Given the description of an element on the screen output the (x, y) to click on. 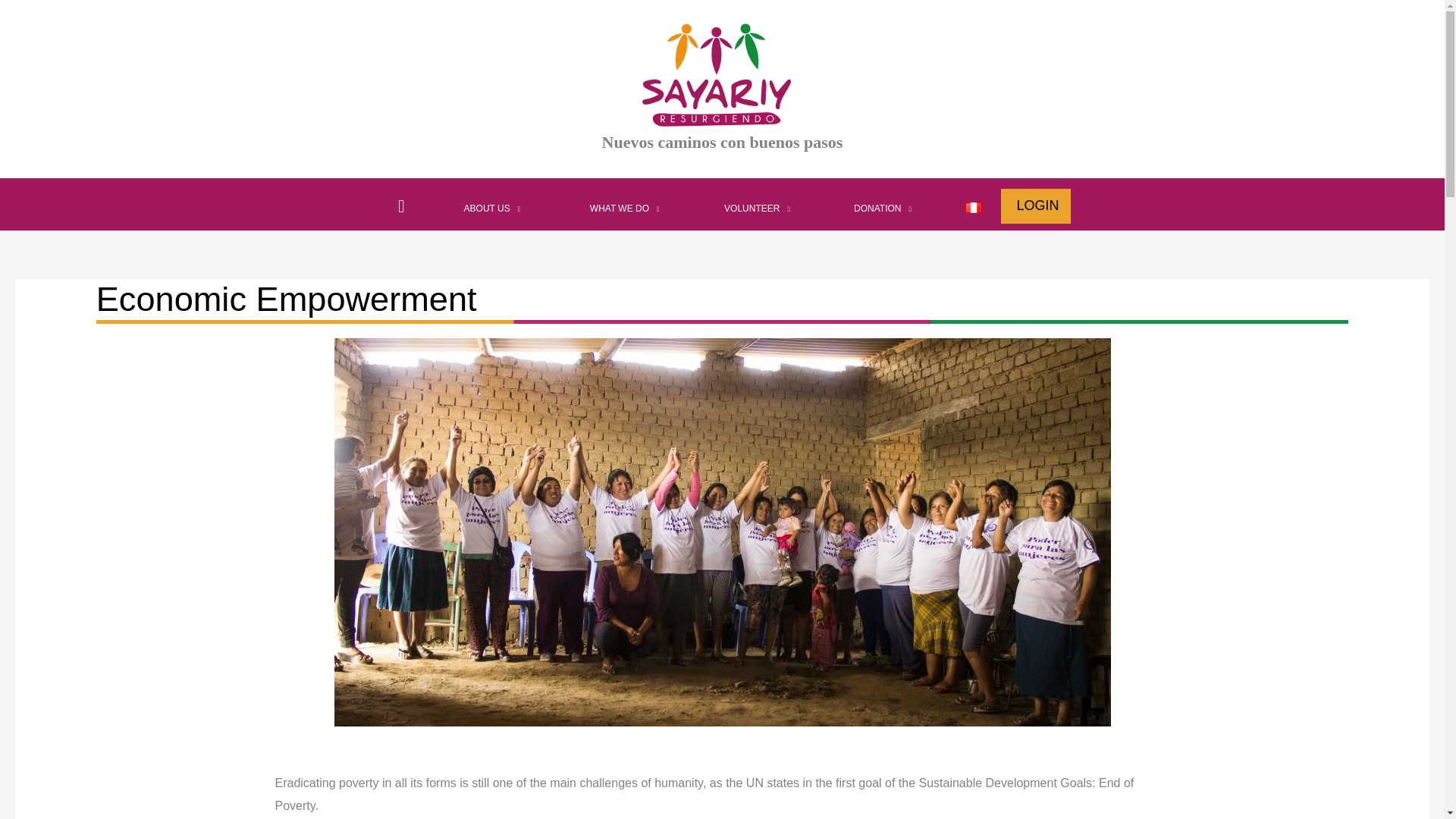
ABOUT US (491, 208)
WHAT WE DO (624, 208)
VOLUNTEER (756, 208)
DONATION (882, 208)
LOGIN (1037, 205)
